Given the description of an element on the screen output the (x, y) to click on. 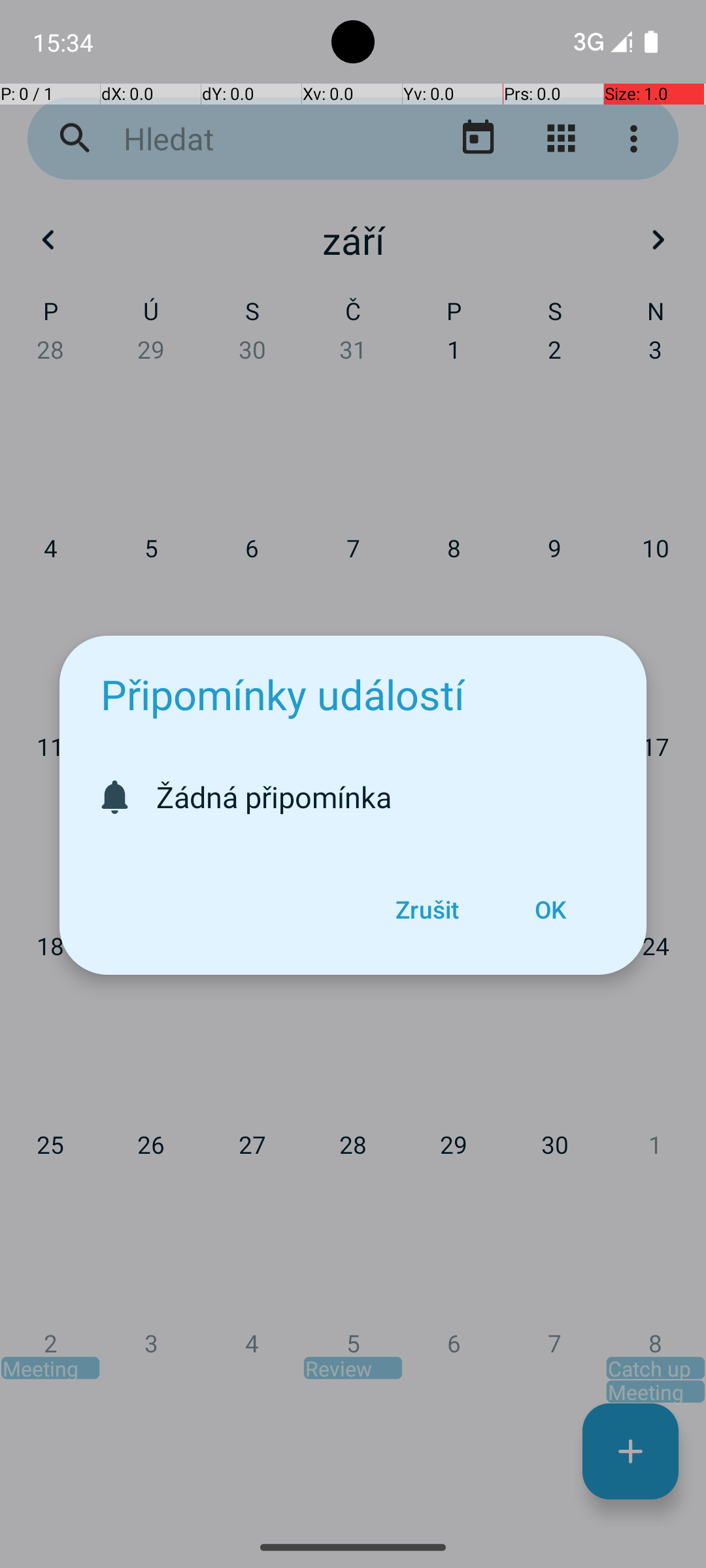
Připomínky událostí Element type: android.widget.TextView (282, 693)
Žádná připomínka Element type: android.widget.TextView (387, 796)
Zrušit Element type: android.widget.Button (426, 909)
